Given the description of an element on the screen output the (x, y) to click on. 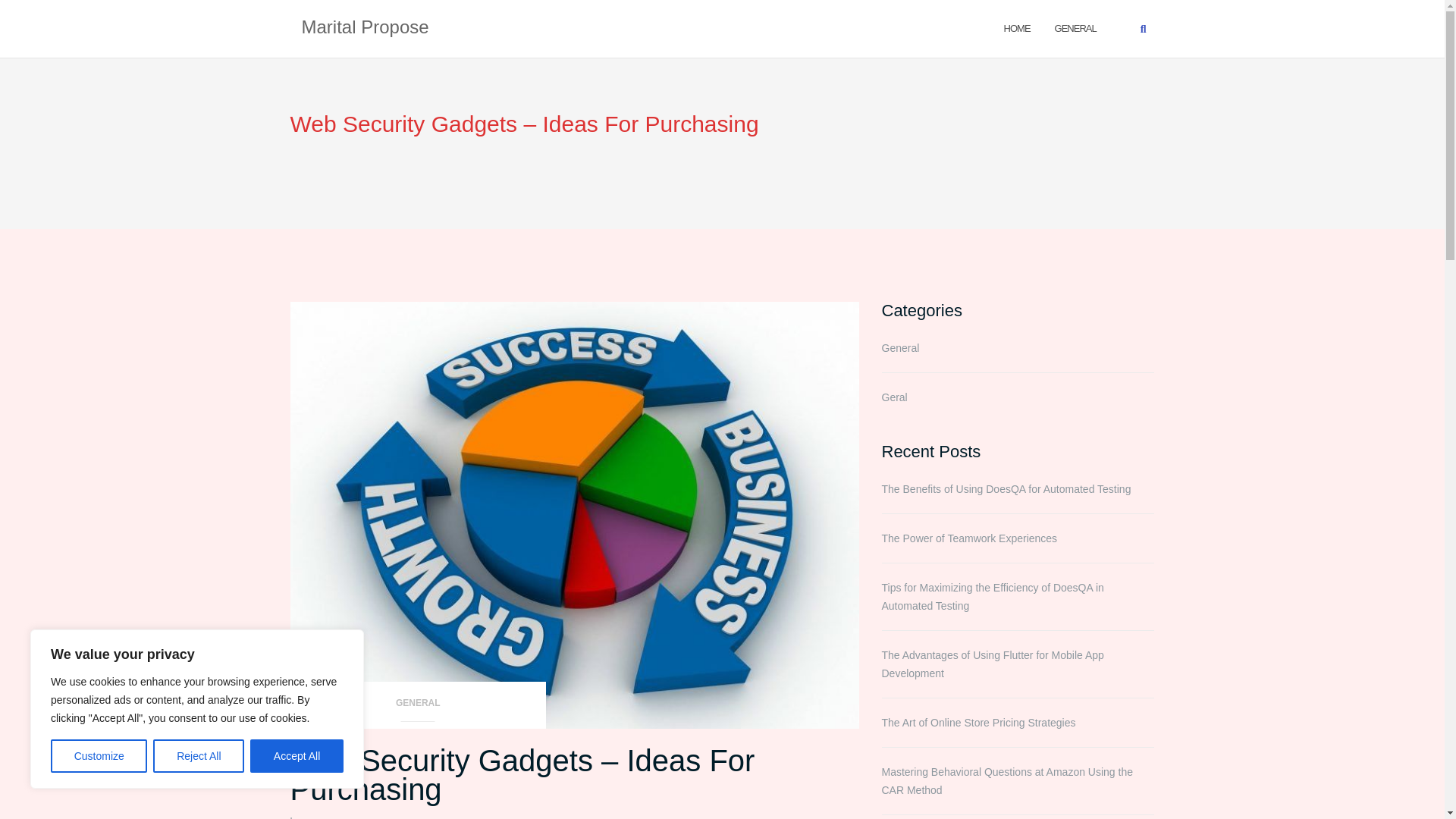
Customize (98, 756)
GENERAL (1075, 28)
Reject All (198, 756)
Marital Propose (365, 28)
GENERAL (417, 706)
Accept All (296, 756)
General (1075, 28)
